Given the description of an element on the screen output the (x, y) to click on. 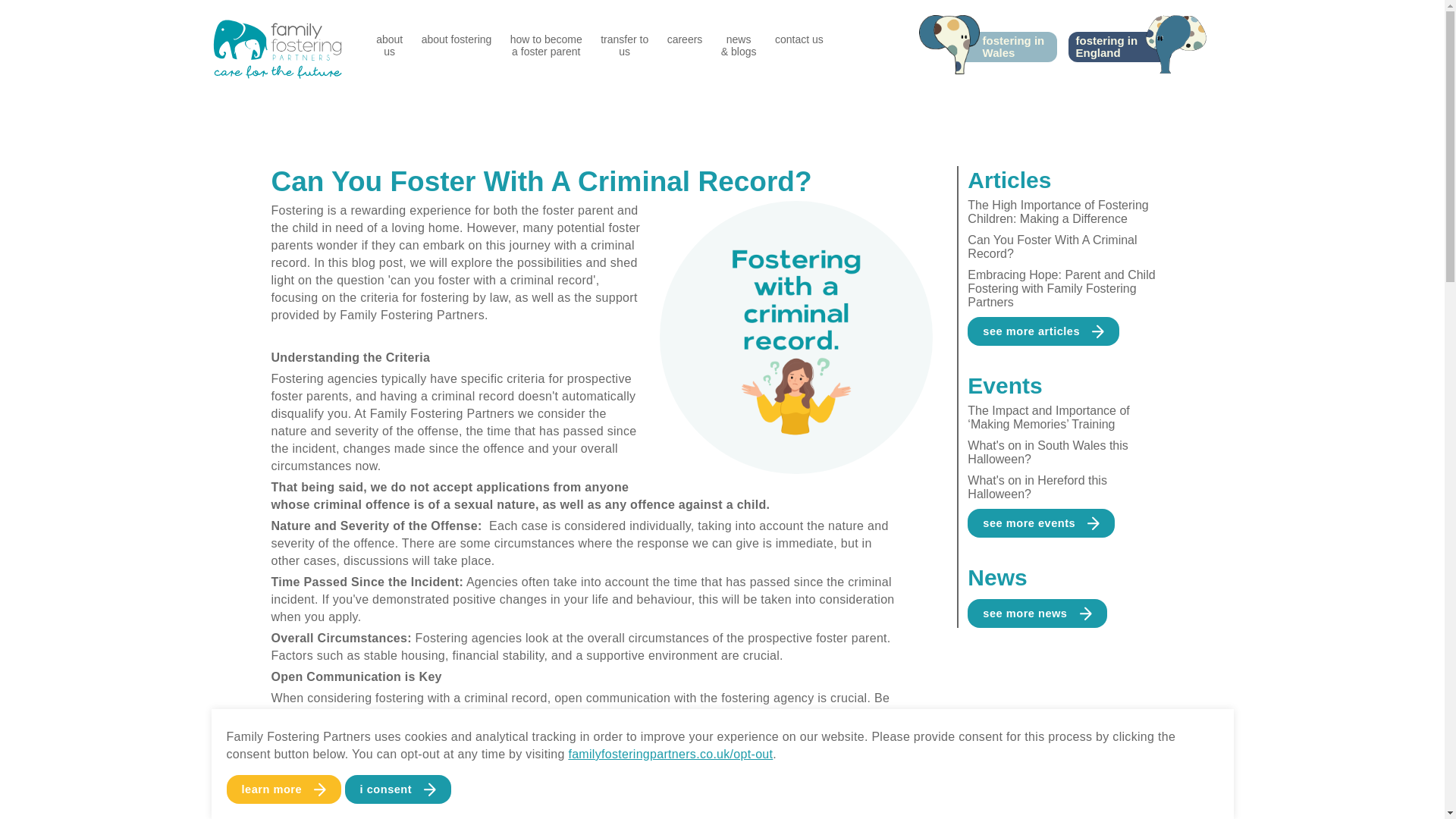
i consent (398, 788)
learn more (545, 45)
about fostering (282, 788)
